Given the description of an element on the screen output the (x, y) to click on. 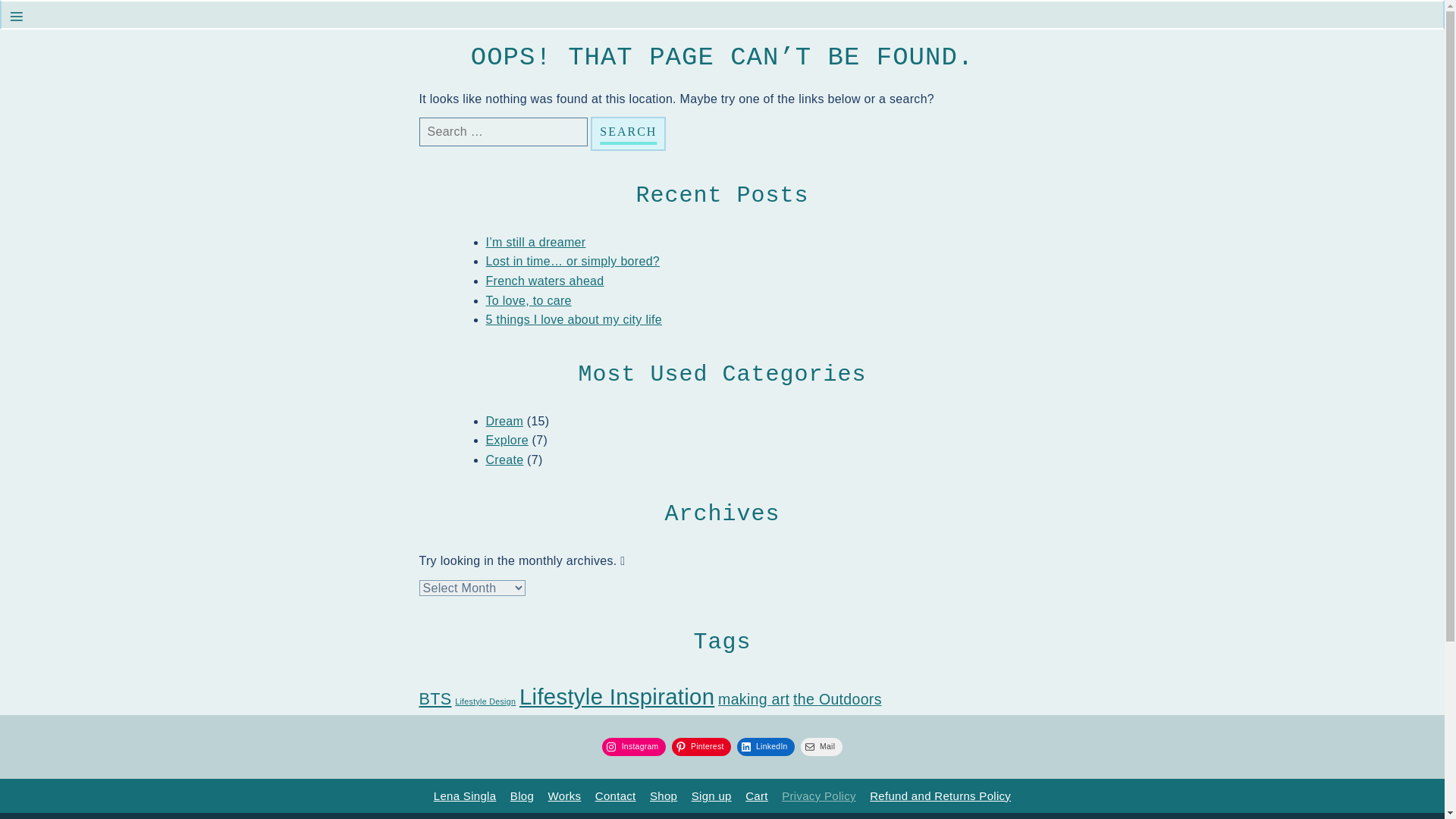
LinkedIn (765, 746)
Shop (663, 795)
Blog (522, 795)
Mail (821, 746)
Instagram (633, 746)
To love, to care (527, 300)
Dream (503, 420)
Sign up (711, 795)
Privacy Policy (818, 795)
Pinterest (700, 746)
